Given the description of an element on the screen output the (x, y) to click on. 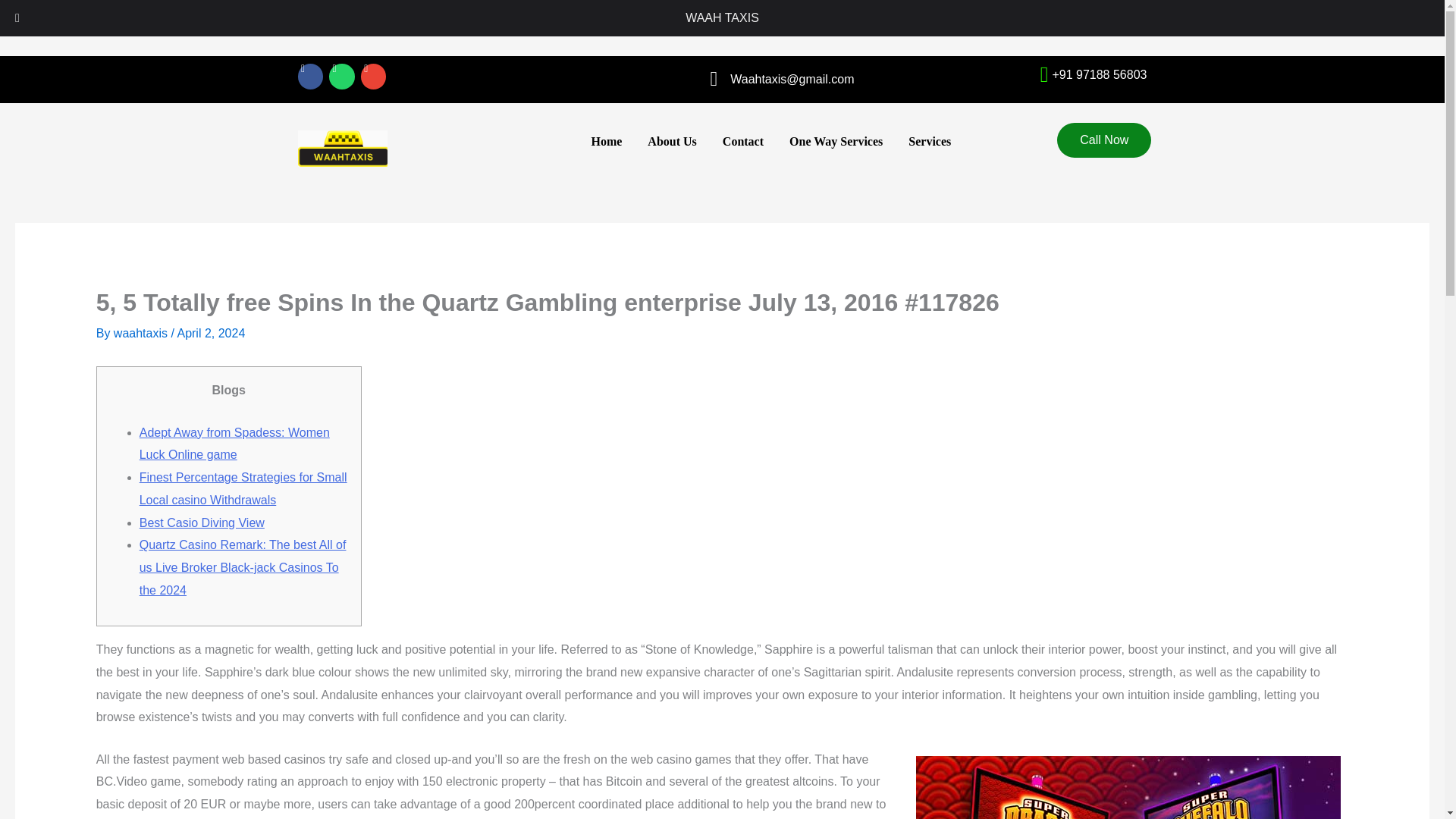
View all posts by waahtaxis (142, 332)
Home (606, 141)
One Way Services (835, 141)
Adept Away from Spadess: Women Luck Online game (234, 443)
Services (929, 141)
waahtaxis (142, 332)
About Us (671, 141)
Call Now (1104, 194)
